Given the description of an element on the screen output the (x, y) to click on. 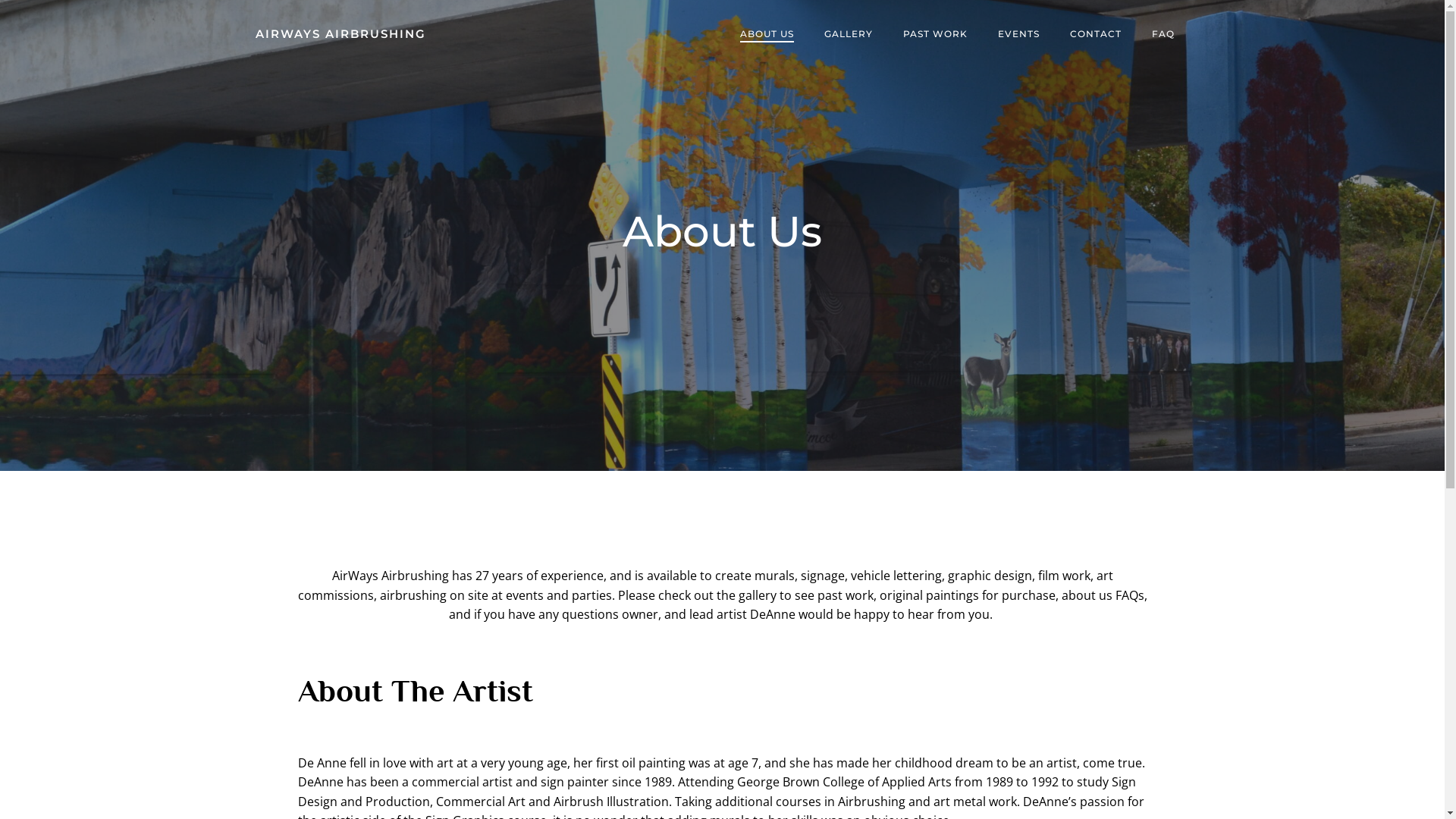
FAQ Element type: text (1162, 33)
AIRWAYS AIRBRUSHING Element type: text (339, 34)
CONTACT Element type: text (1094, 33)
EVENTS Element type: text (1018, 33)
ABOUT US Element type: text (766, 33)
PAST WORK Element type: text (934, 33)
GALLERY Element type: text (847, 33)
